Given the description of an element on the screen output the (x, y) to click on. 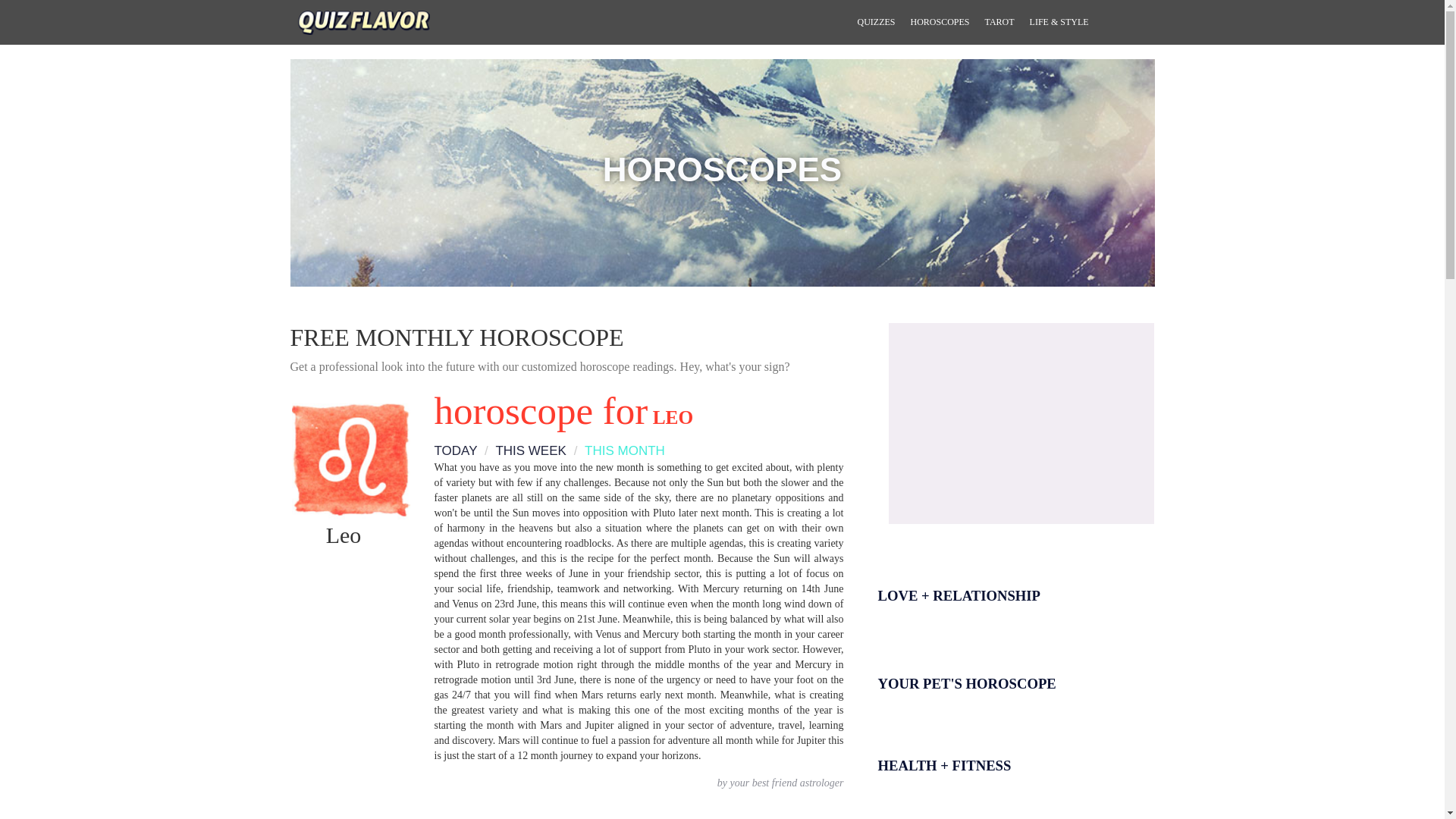
TODAY (455, 450)
THIS MONTH (617, 450)
YOUR PET'S HOROSCOPE (1010, 667)
HOROSCOPES (939, 22)
THIS WEEK (523, 450)
QUIZZES (875, 22)
TAROT (999, 22)
QuizFlavor (363, 20)
